Given the description of an element on the screen output the (x, y) to click on. 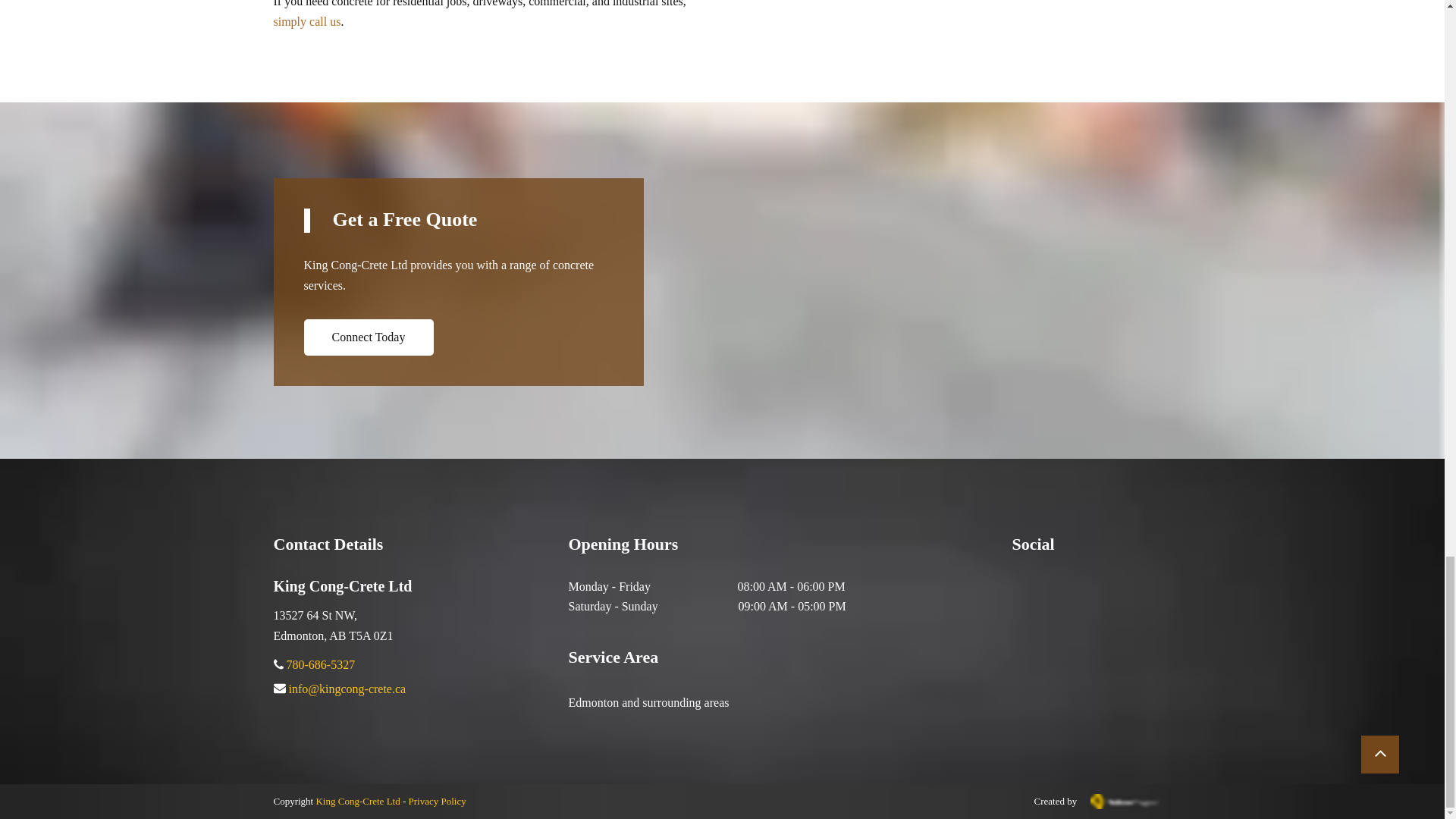
simply call us (306, 22)
Privacy Policy (437, 801)
Embedded Content (1054, 587)
King Cong-Crete Ltd (356, 801)
Connect Today (367, 337)
780-686-5327 (320, 665)
Embedded Content (1044, 613)
